Given the description of an element on the screen output the (x, y) to click on. 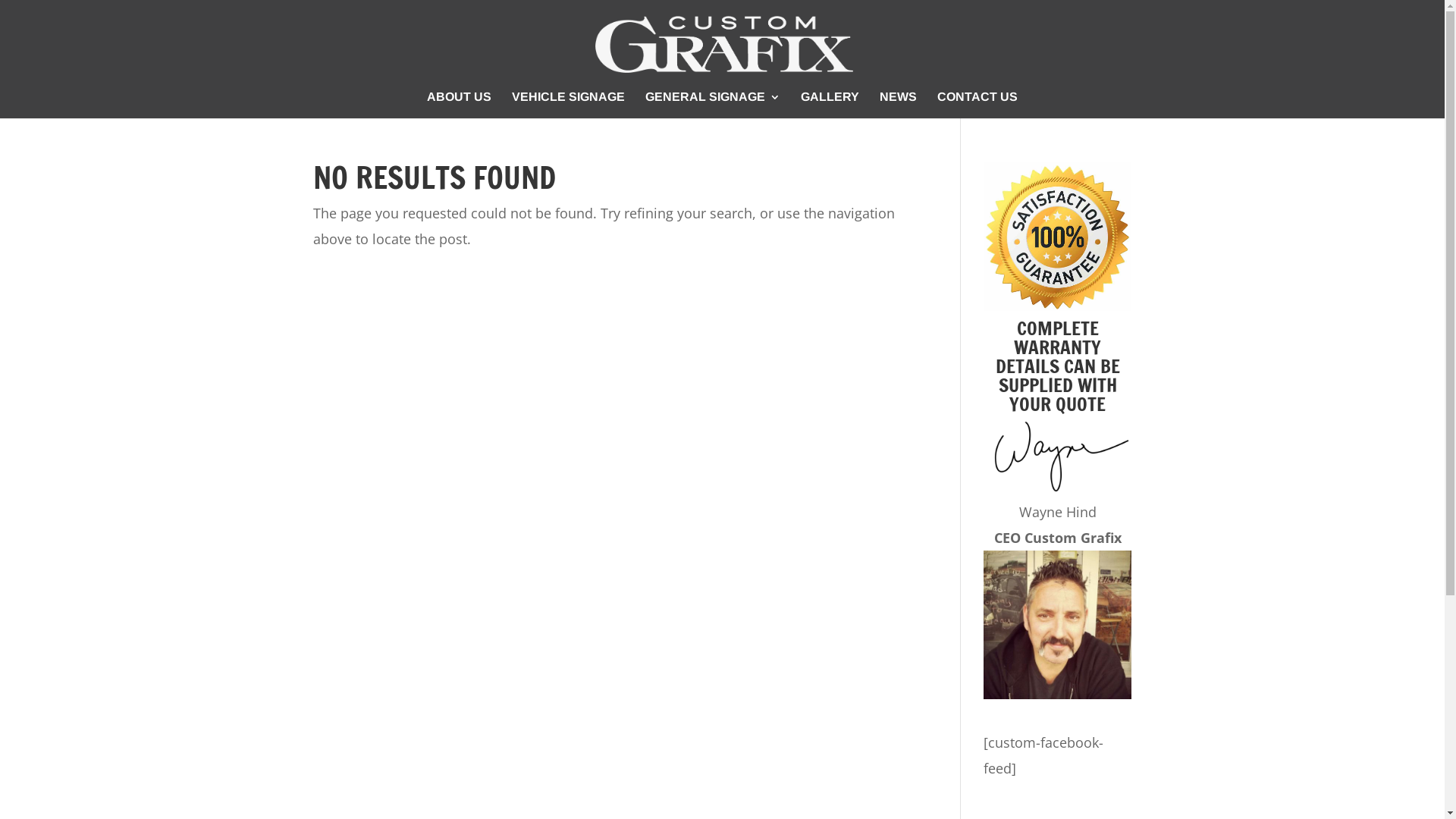
NEWS Element type: text (897, 104)
GALLERY Element type: text (829, 104)
CONTACT US Element type: text (977, 104)
VEHICLE SIGNAGE Element type: text (567, 104)
GENERAL SIGNAGE Element type: text (712, 104)
ABOUT US Element type: text (458, 104)
